Given the description of an element on the screen output the (x, y) to click on. 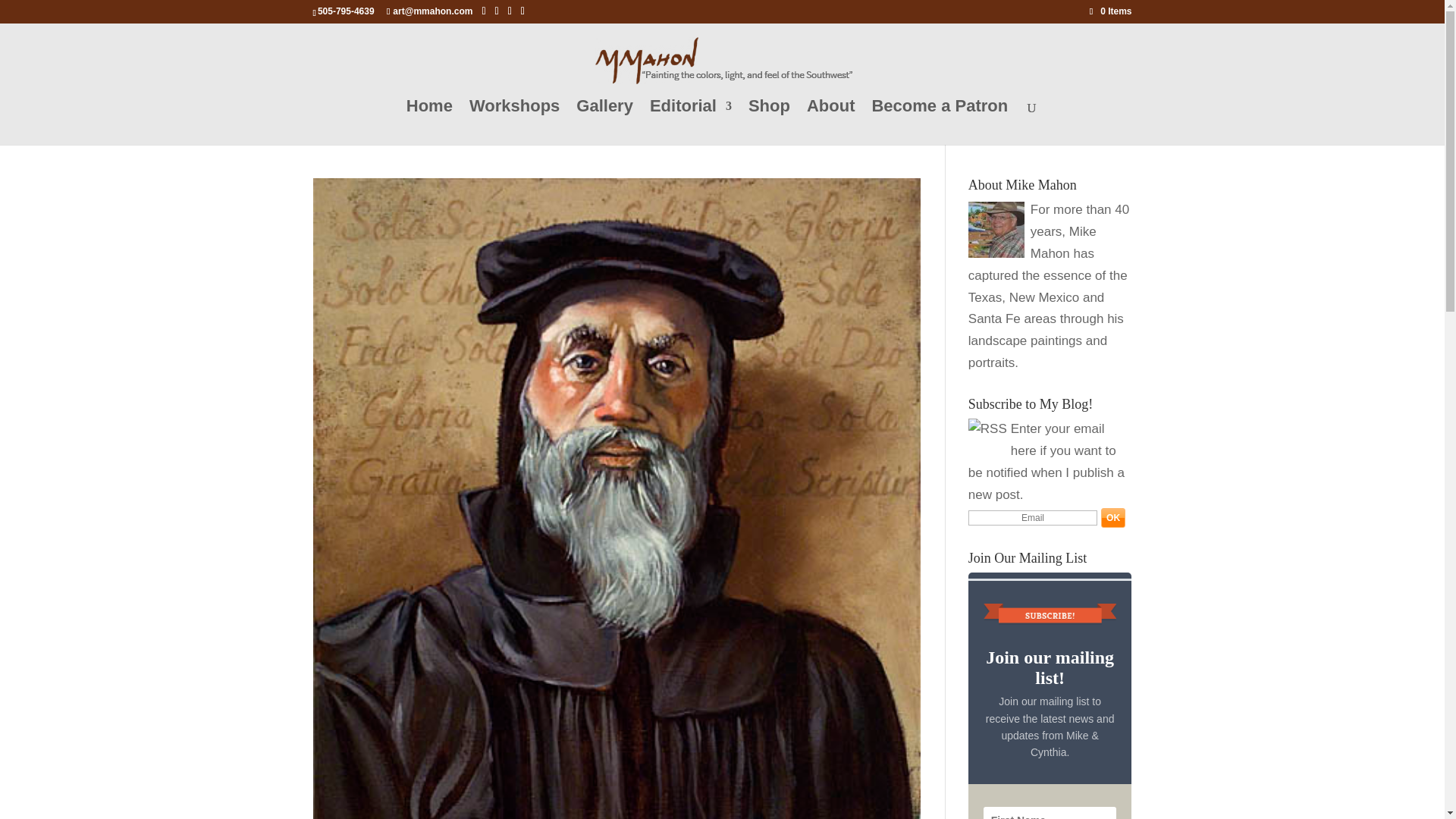
Become a Patron (938, 122)
Workshops (513, 122)
Editorial (690, 122)
Home (429, 122)
Shop (769, 122)
OK (1112, 517)
About (831, 122)
OK (1112, 517)
0 Items (1110, 10)
Gallery (604, 122)
